Given the description of an element on the screen output the (x, y) to click on. 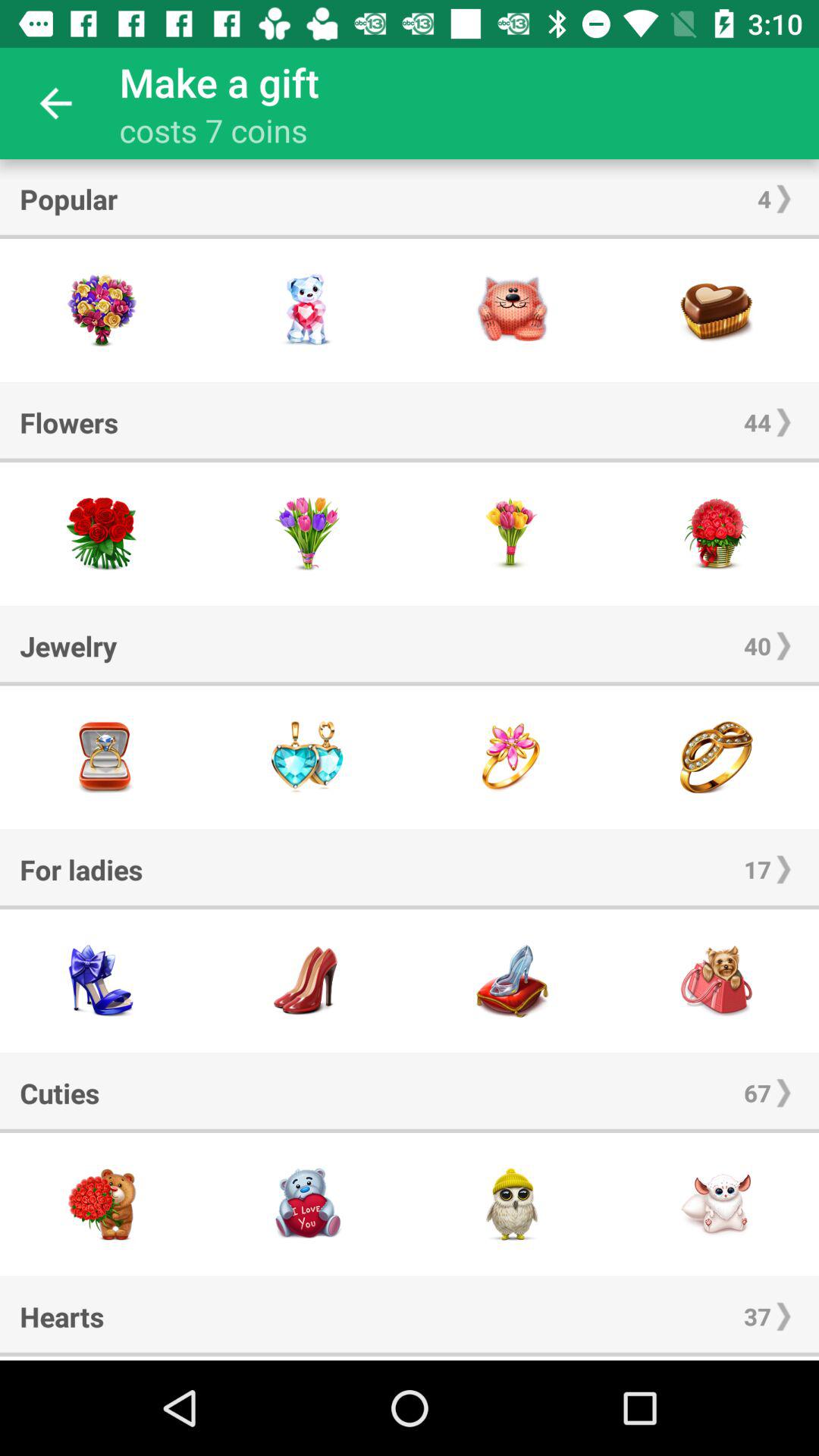
select this item (102, 980)
